Given the description of an element on the screen output the (x, y) to click on. 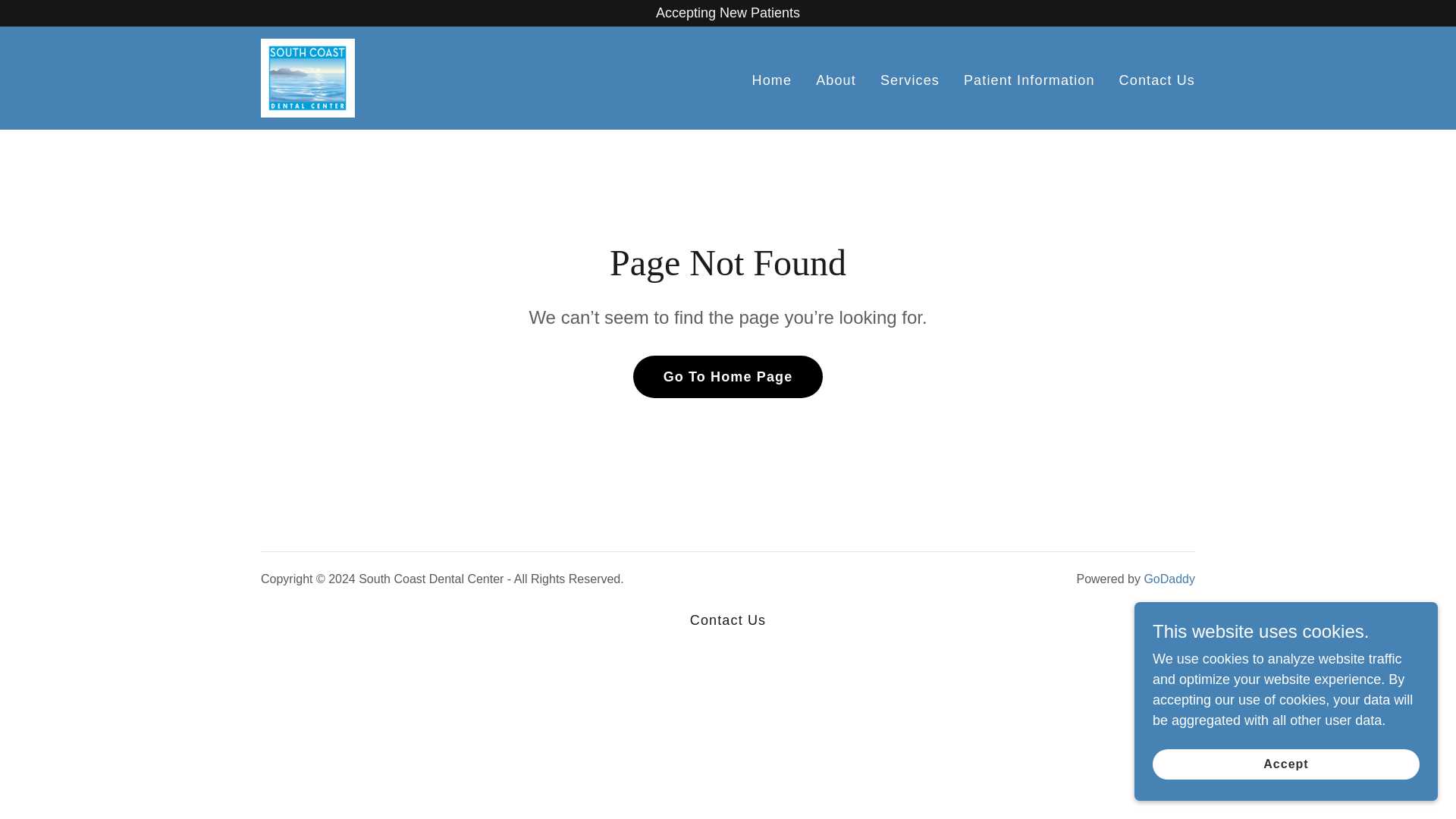
GoDaddy (1168, 578)
Services (909, 80)
Accept (1286, 764)
Contact Us (727, 620)
Contact Us (1157, 80)
Patient Information (1029, 80)
Go To Home Page (728, 376)
Home (772, 80)
About (835, 80)
